Given the description of an element on the screen output the (x, y) to click on. 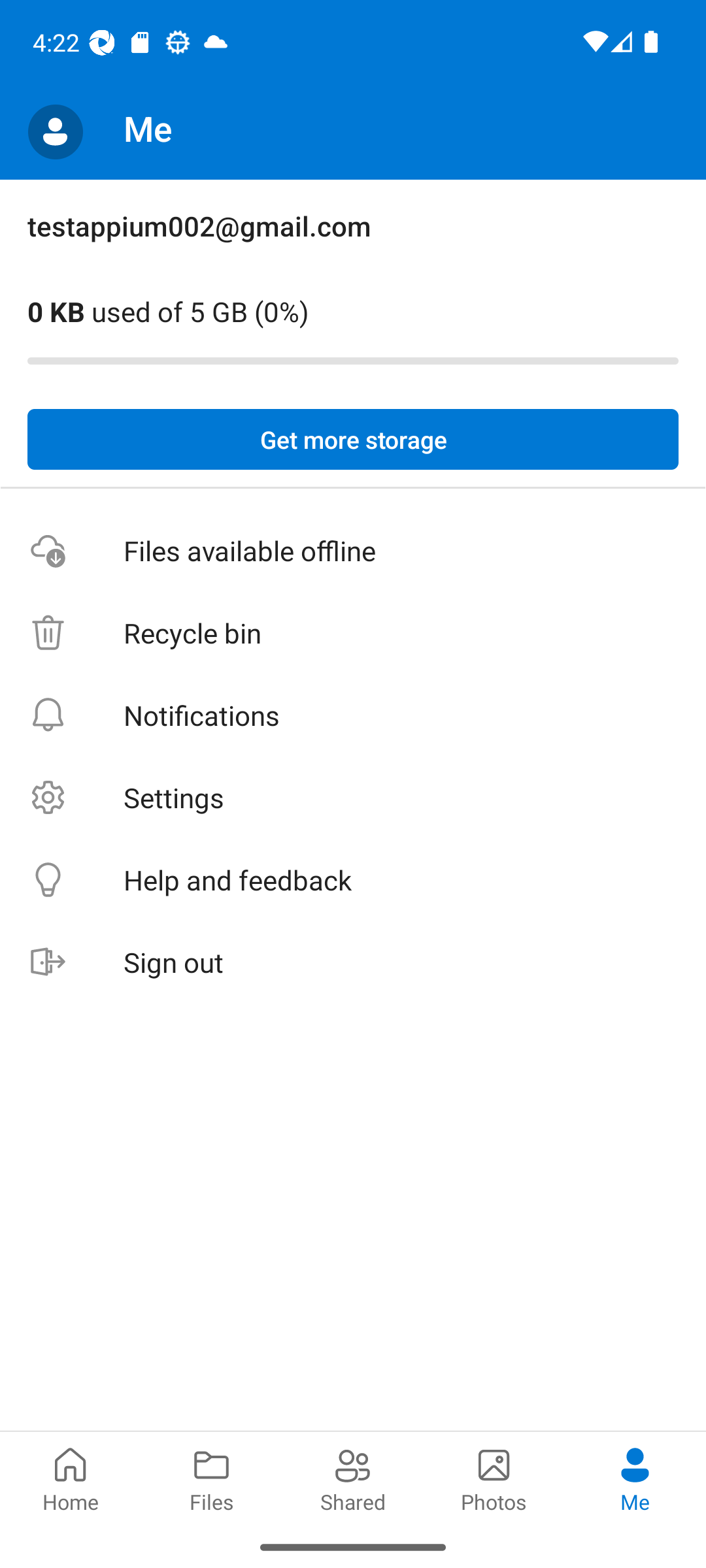
Account switcher (55, 131)
Get more storage (352, 439)
Files available offline (353, 550)
Recycle bin (353, 633)
Notifications (353, 714)
Settings (353, 796)
Help and feedback (353, 879)
Sign out (353, 962)
Home pivot Home (70, 1478)
Files pivot Files (211, 1478)
Shared pivot Shared (352, 1478)
Photos pivot Photos (493, 1478)
